Given the description of an element on the screen output the (x, y) to click on. 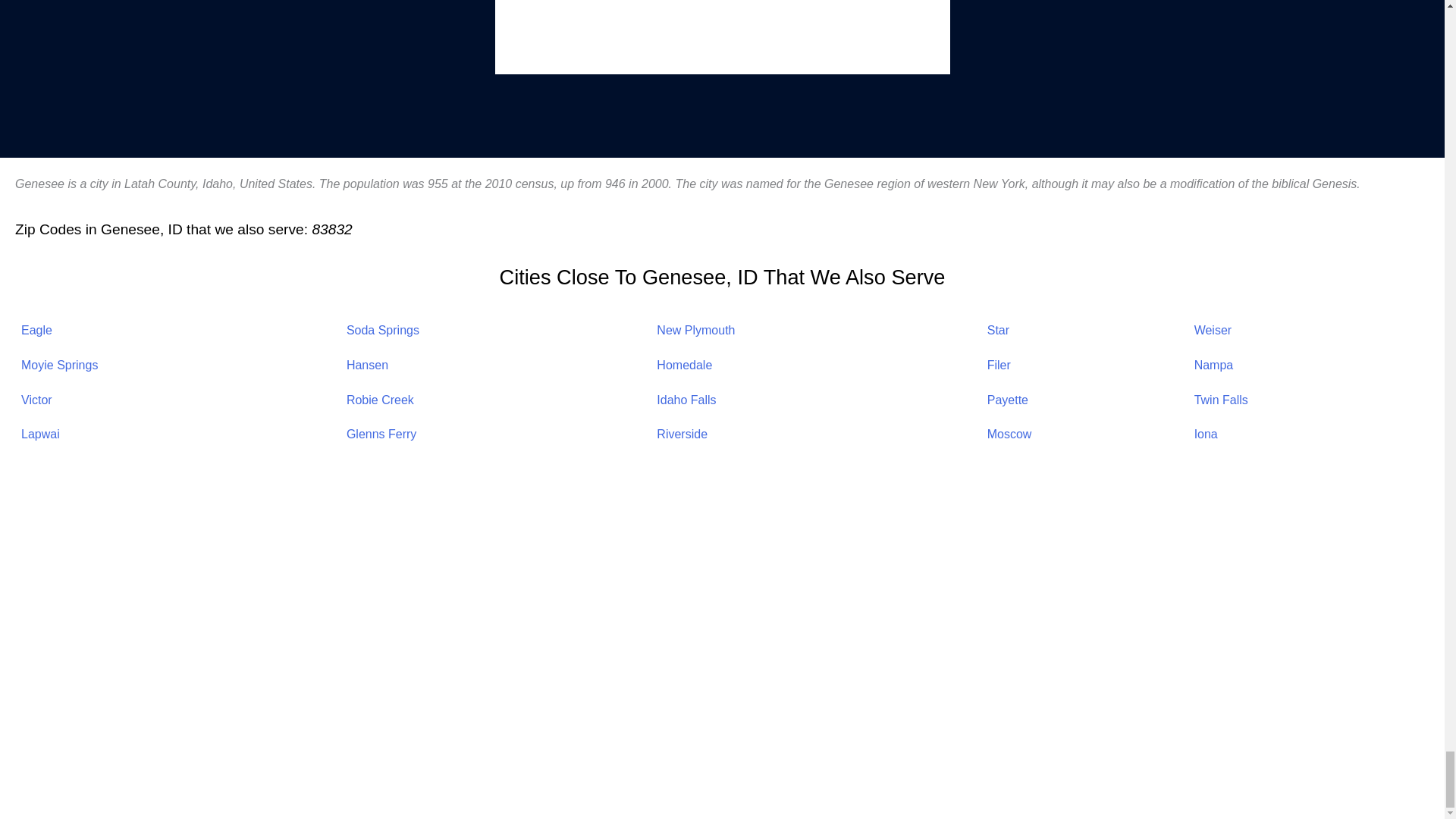
Homedale (683, 364)
Soda Springs (382, 329)
New Plymouth (695, 329)
Hansen (367, 364)
Eagle (36, 329)
Star (998, 329)
Moyie Springs (59, 364)
Weiser (1212, 329)
